Given the description of an element on the screen output the (x, y) to click on. 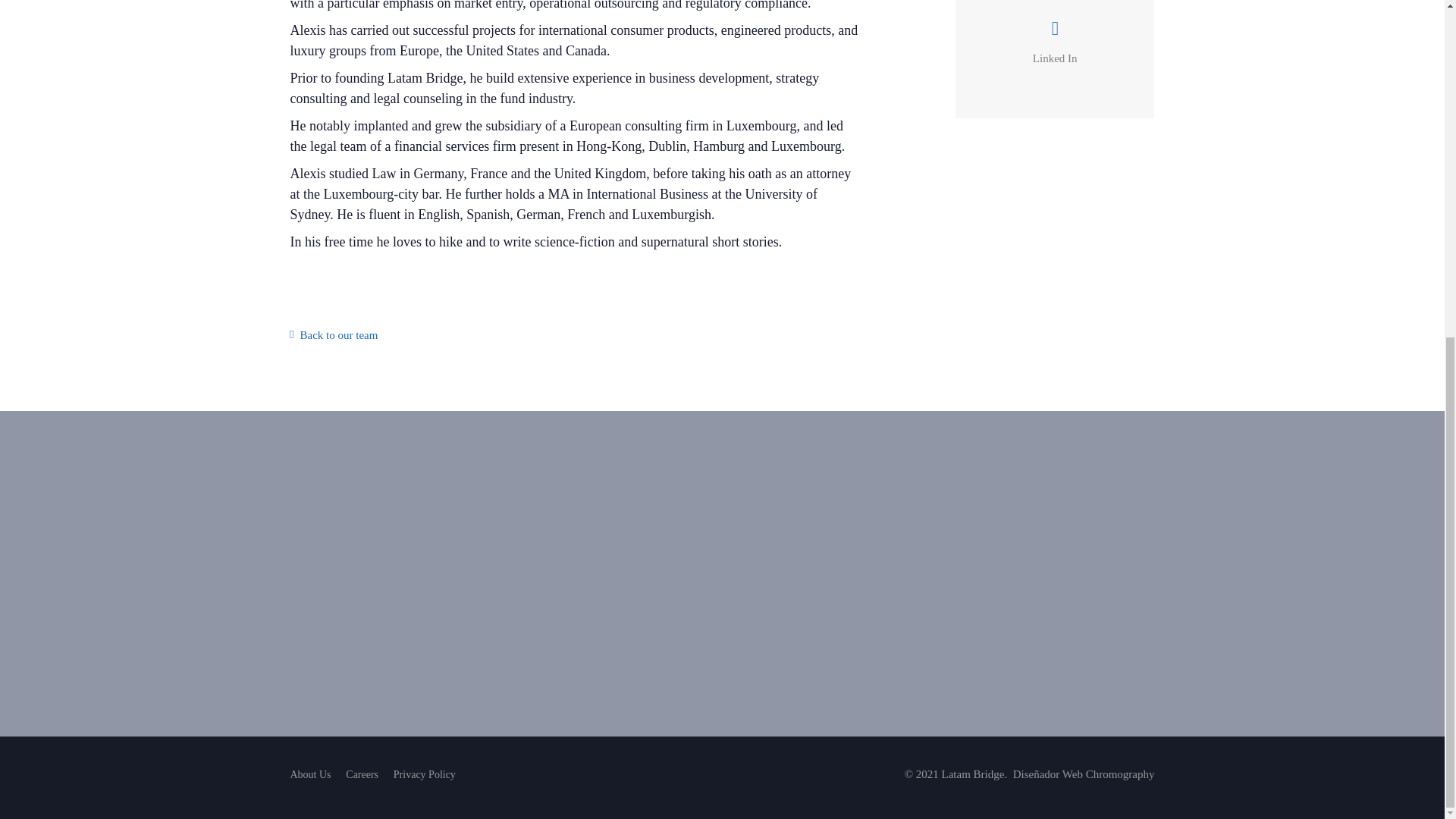
Privacy Policy (424, 773)
Chromography (1120, 774)
Careers (362, 773)
Linked In (1054, 58)
About Us (333, 335)
About Us (309, 773)
Back to our team (333, 335)
